Given the description of an element on the screen output the (x, y) to click on. 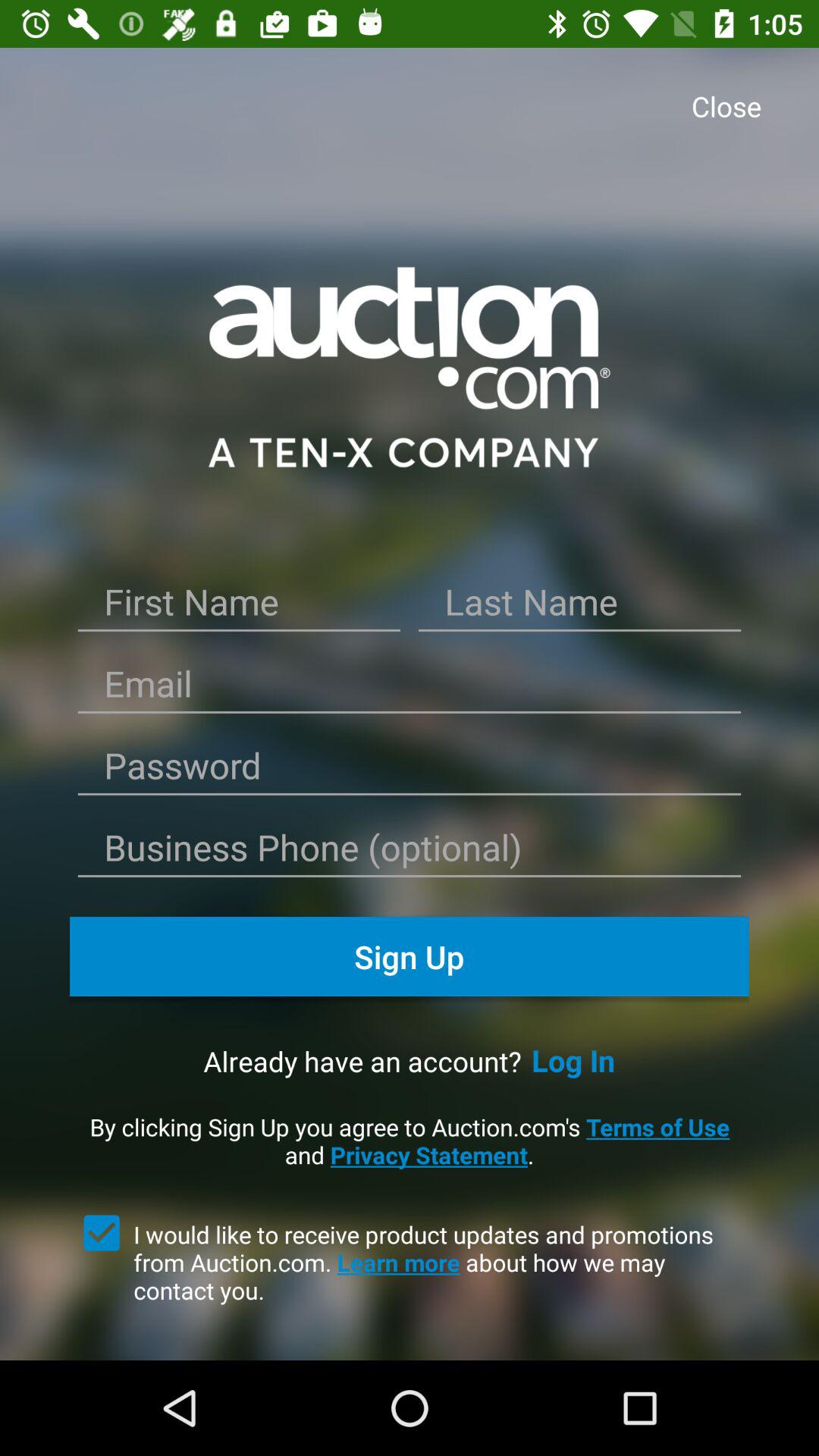
turn on the item below sign up icon (573, 1060)
